Given the description of an element on the screen output the (x, y) to click on. 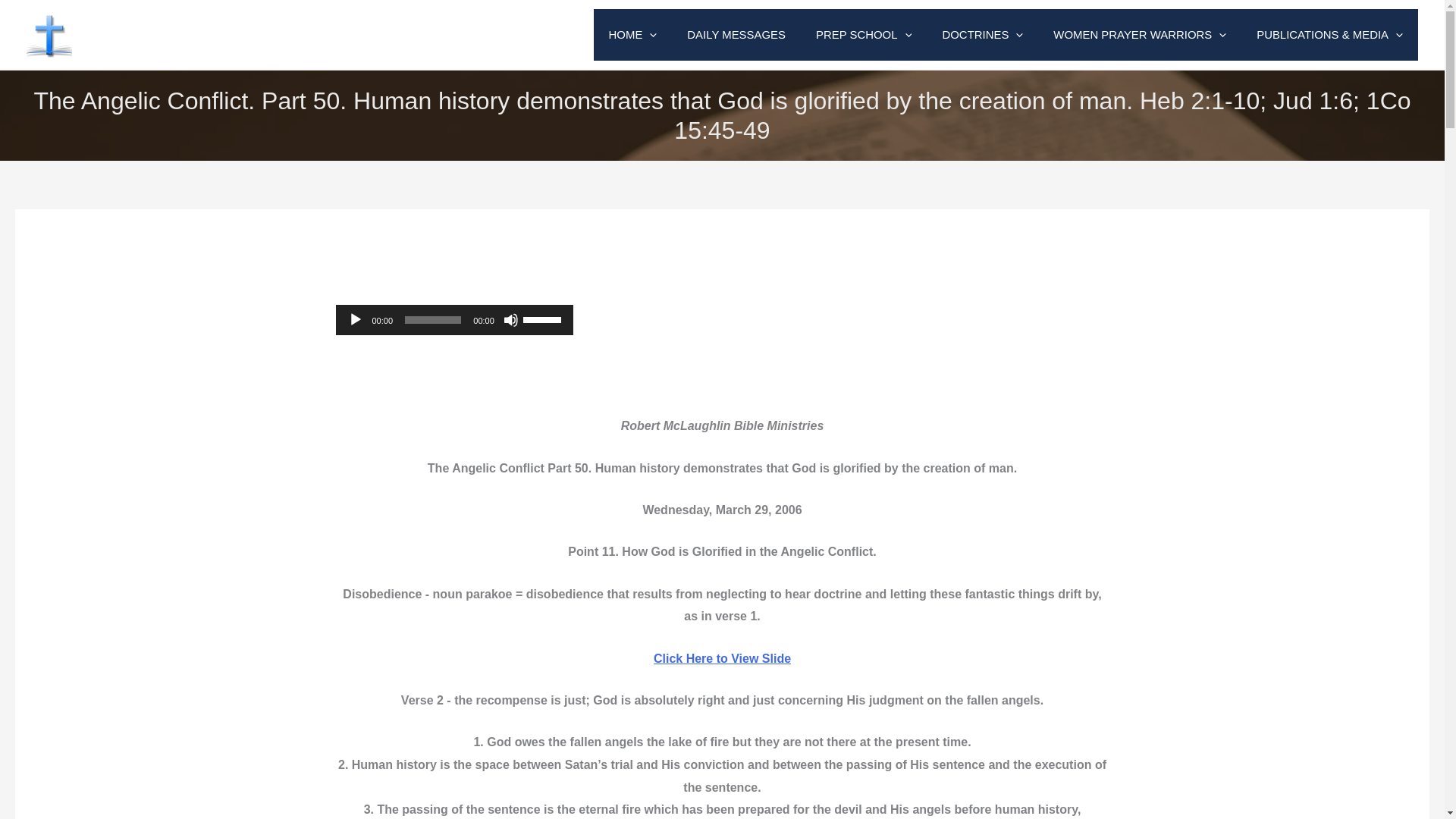
Mute (510, 319)
Play (354, 319)
PREP SCHOOL (863, 34)
DOCTRINES (982, 34)
DAILY MESSAGES (735, 34)
WOMEN PRAYER WARRIORS (1139, 34)
HOME (633, 34)
